Given the description of an element on the screen output the (x, y) to click on. 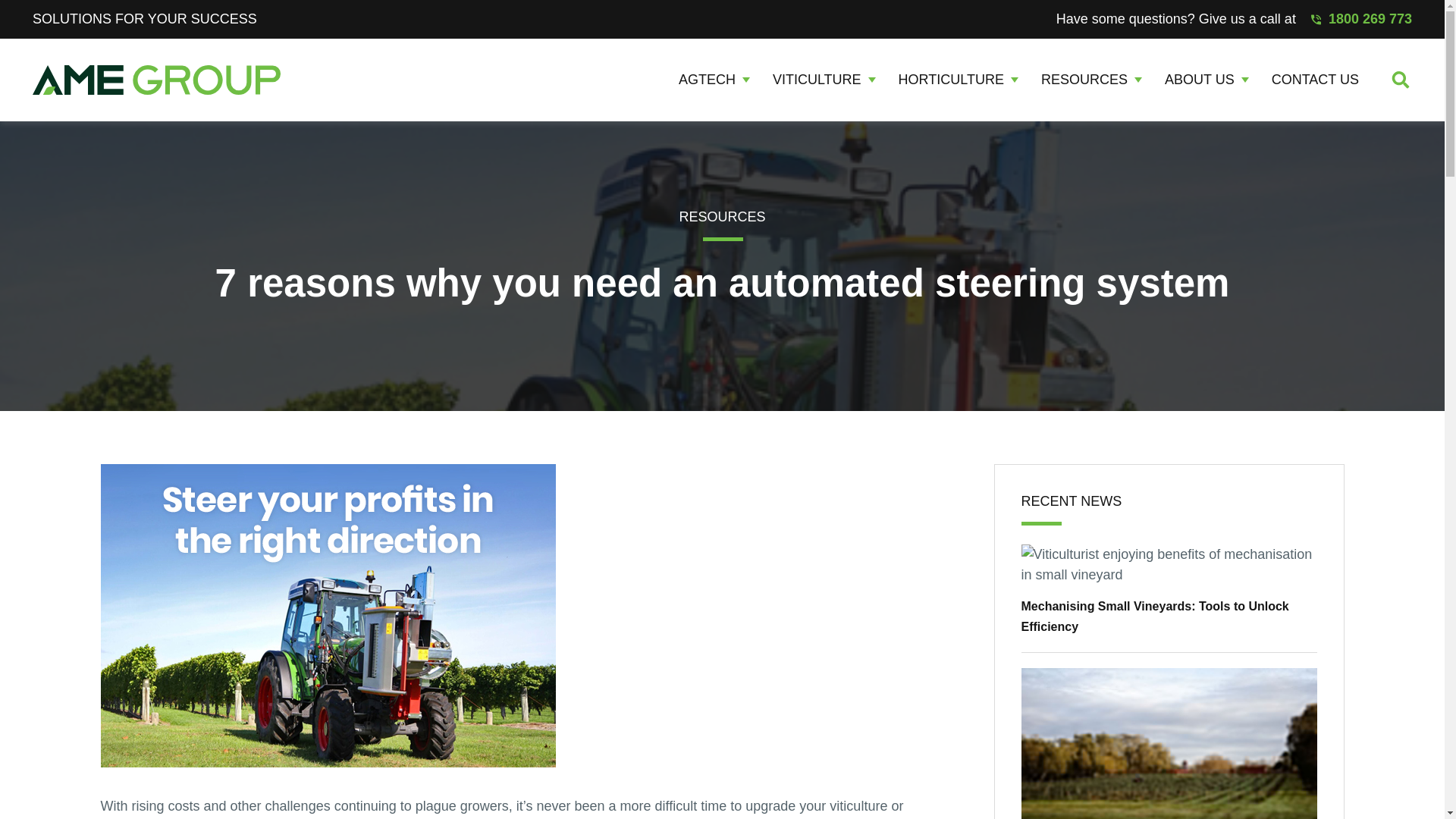
VITICULTURE (823, 79)
AGTECH (713, 79)
HORTICULTURE (957, 79)
RESOURCES (1091, 79)
1800 269 773 (1361, 19)
